Given the description of an element on the screen output the (x, y) to click on. 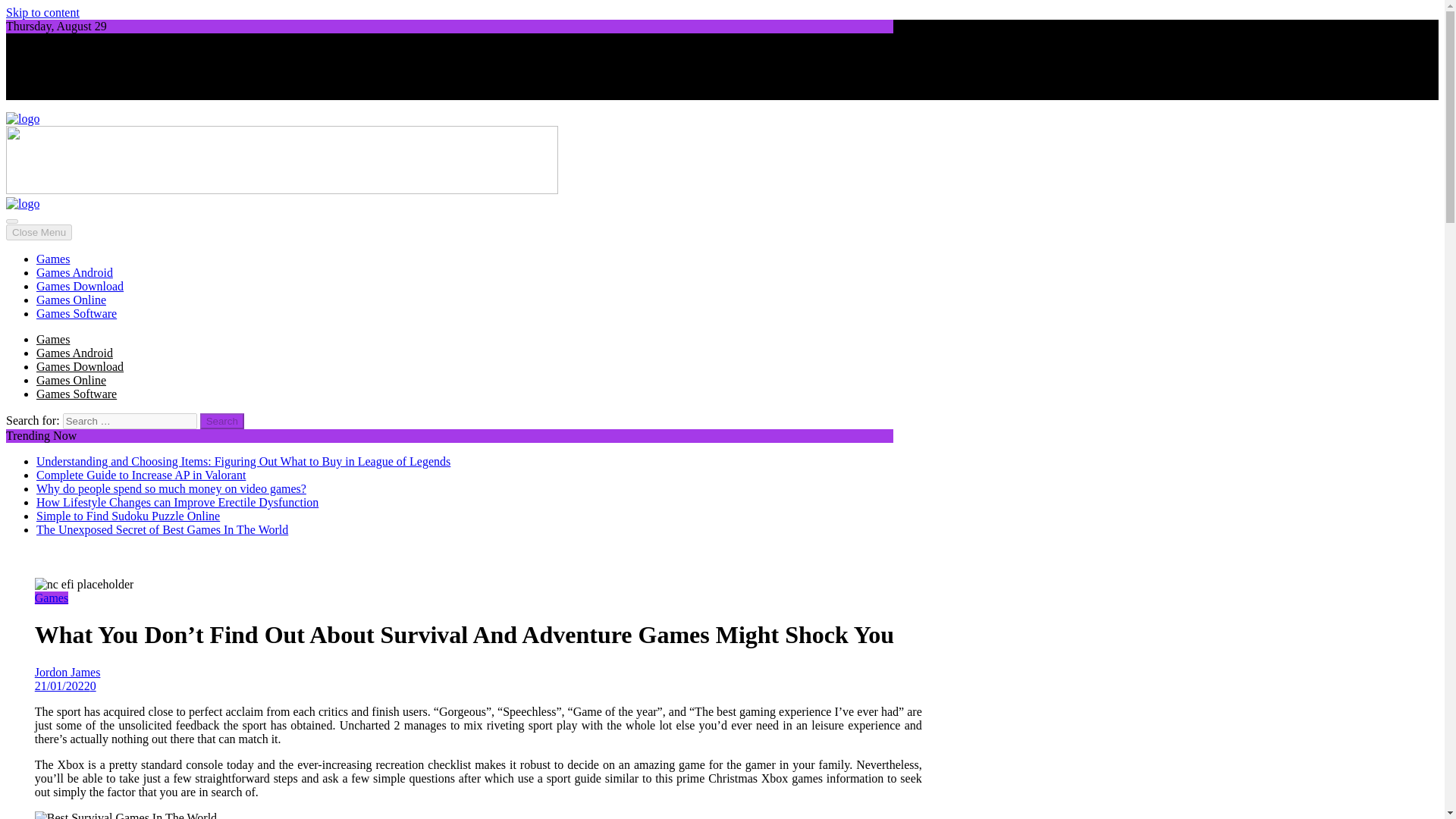
Games Download (79, 366)
Close Menu (38, 232)
OVA Games (35, 144)
Search (222, 421)
Games Android (74, 272)
Jordon James (477, 678)
Games (52, 338)
The Unexposed Secret of Best Games In The World (162, 529)
Why do people spend so much money on video games? (170, 488)
